Given the description of an element on the screen output the (x, y) to click on. 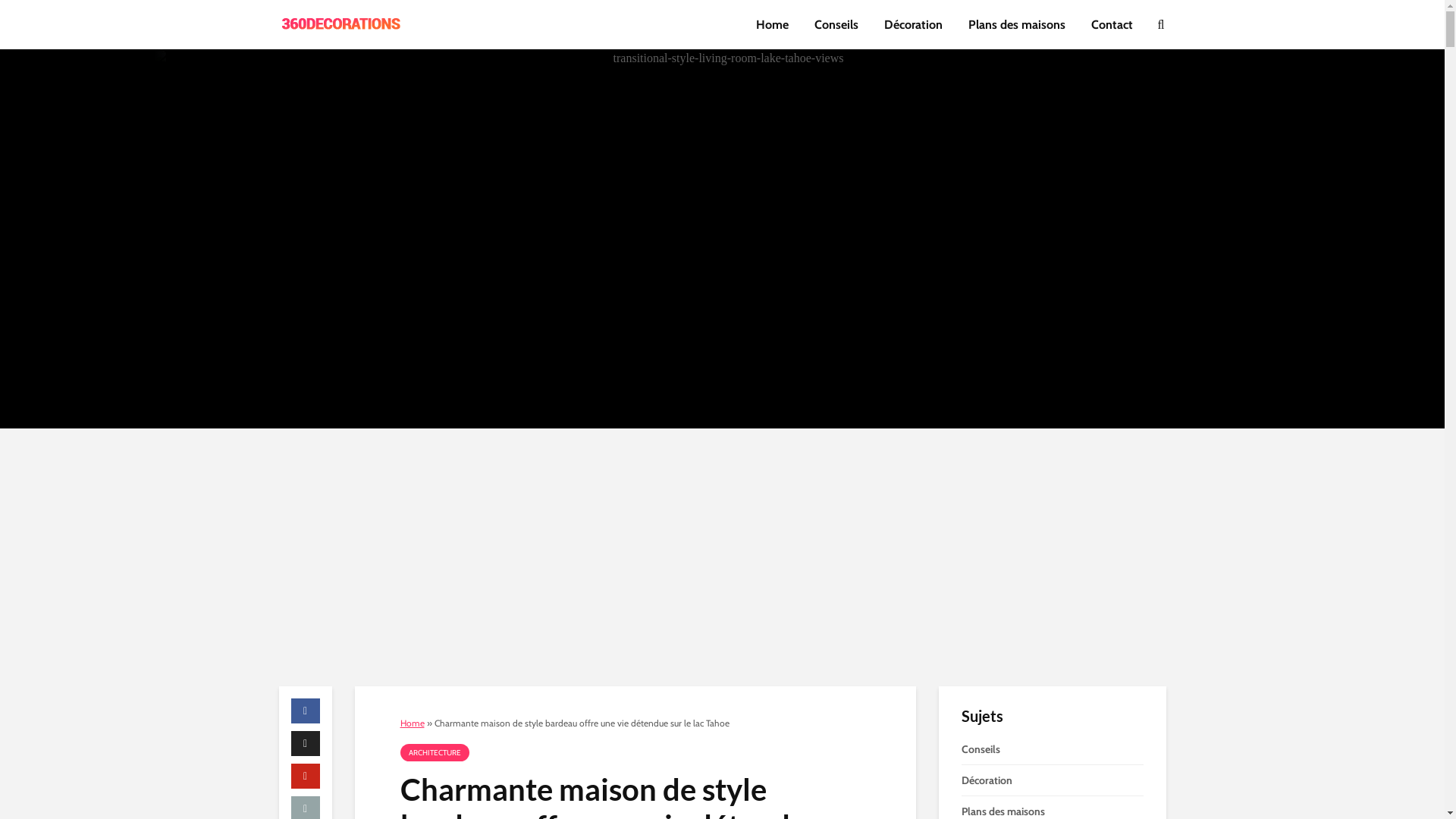
Plans des maisons Element type: text (1016, 24)
Home Element type: text (412, 722)
ARCHITECTURE Element type: text (434, 752)
Home Element type: text (772, 24)
Conseils Element type: text (835, 24)
Conseils Element type: text (1052, 752)
Advertisement Element type: hover (722, 557)
Contact Element type: text (1111, 24)
